Given the description of an element on the screen output the (x, y) to click on. 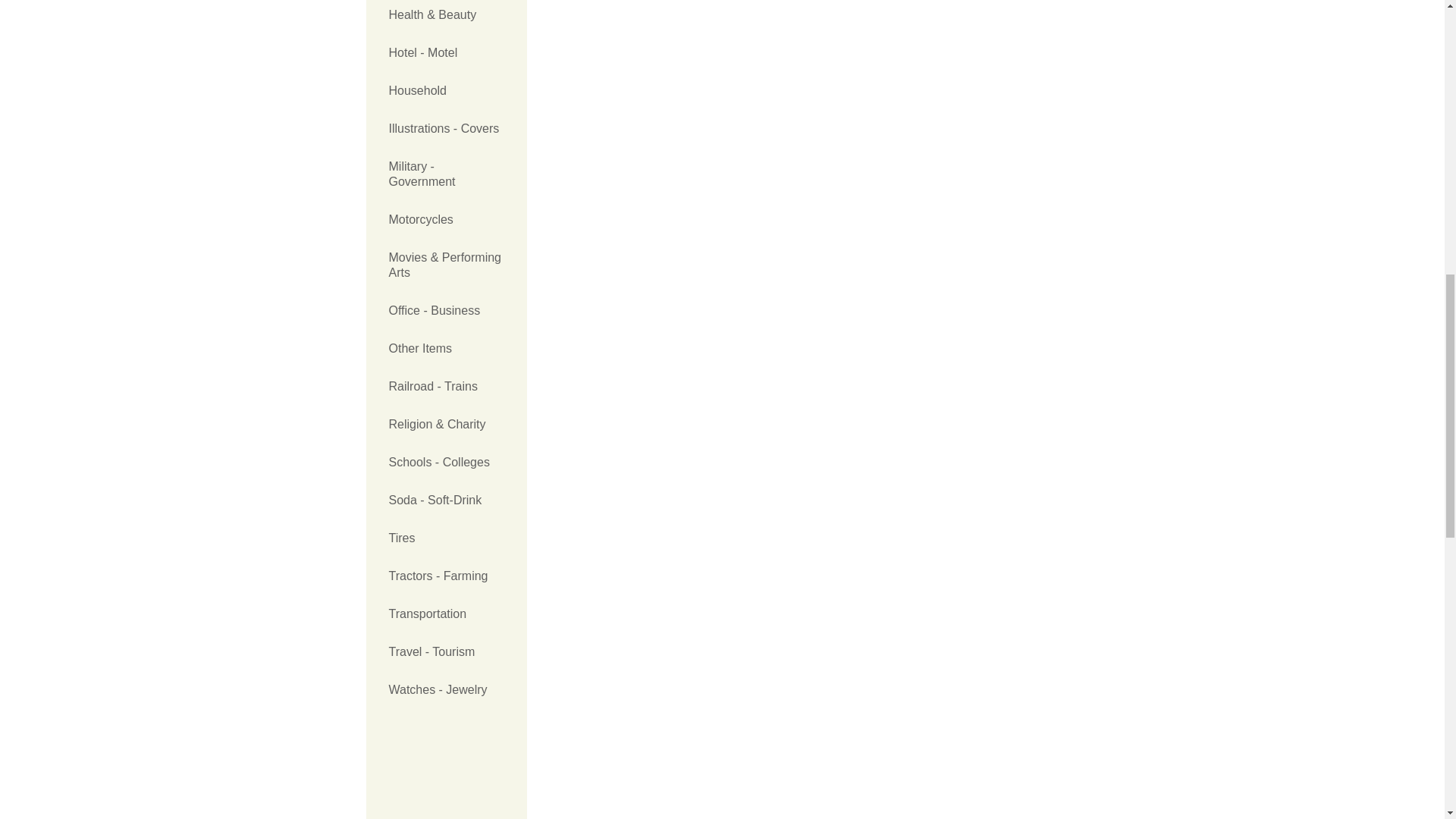
Hotel - Motel (445, 53)
Household (445, 90)
Illustrations - Covers (445, 128)
Advertisement (445, 767)
Other Items (445, 348)
Office - Business (445, 310)
Motorcycles (445, 219)
Military - Government (445, 174)
